Given the description of an element on the screen output the (x, y) to click on. 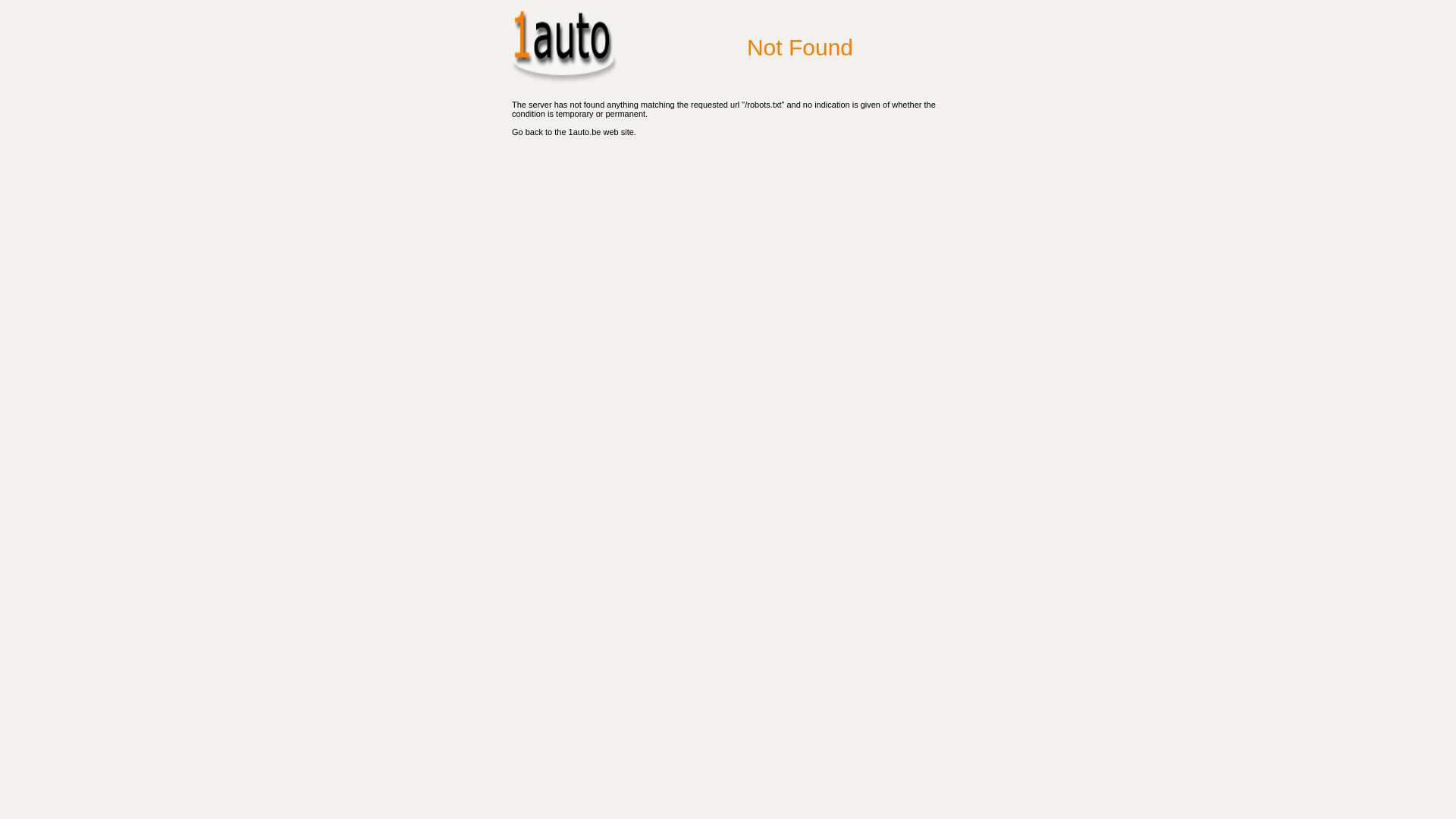
1auto.be Element type: text (584, 131)
